Given the description of an element on the screen output the (x, y) to click on. 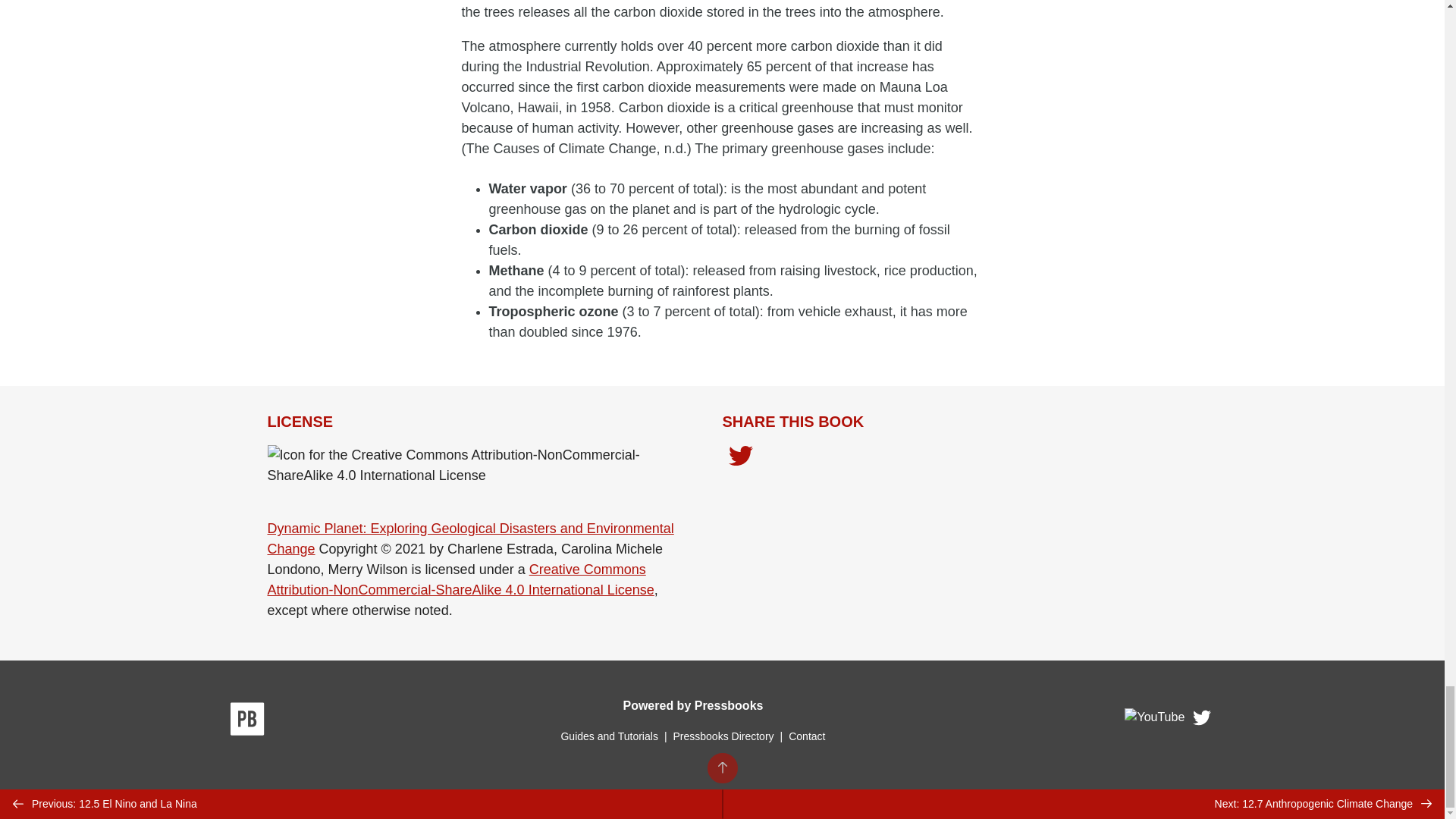
Powered by Pressbooks (692, 705)
Pressbooks Directory (723, 736)
Contact (807, 736)
Pressbooks on YouTube (1155, 721)
Guides and Tutorials (608, 736)
Share on Twitter (740, 460)
Share on Twitter (740, 457)
